Given the description of an element on the screen output the (x, y) to click on. 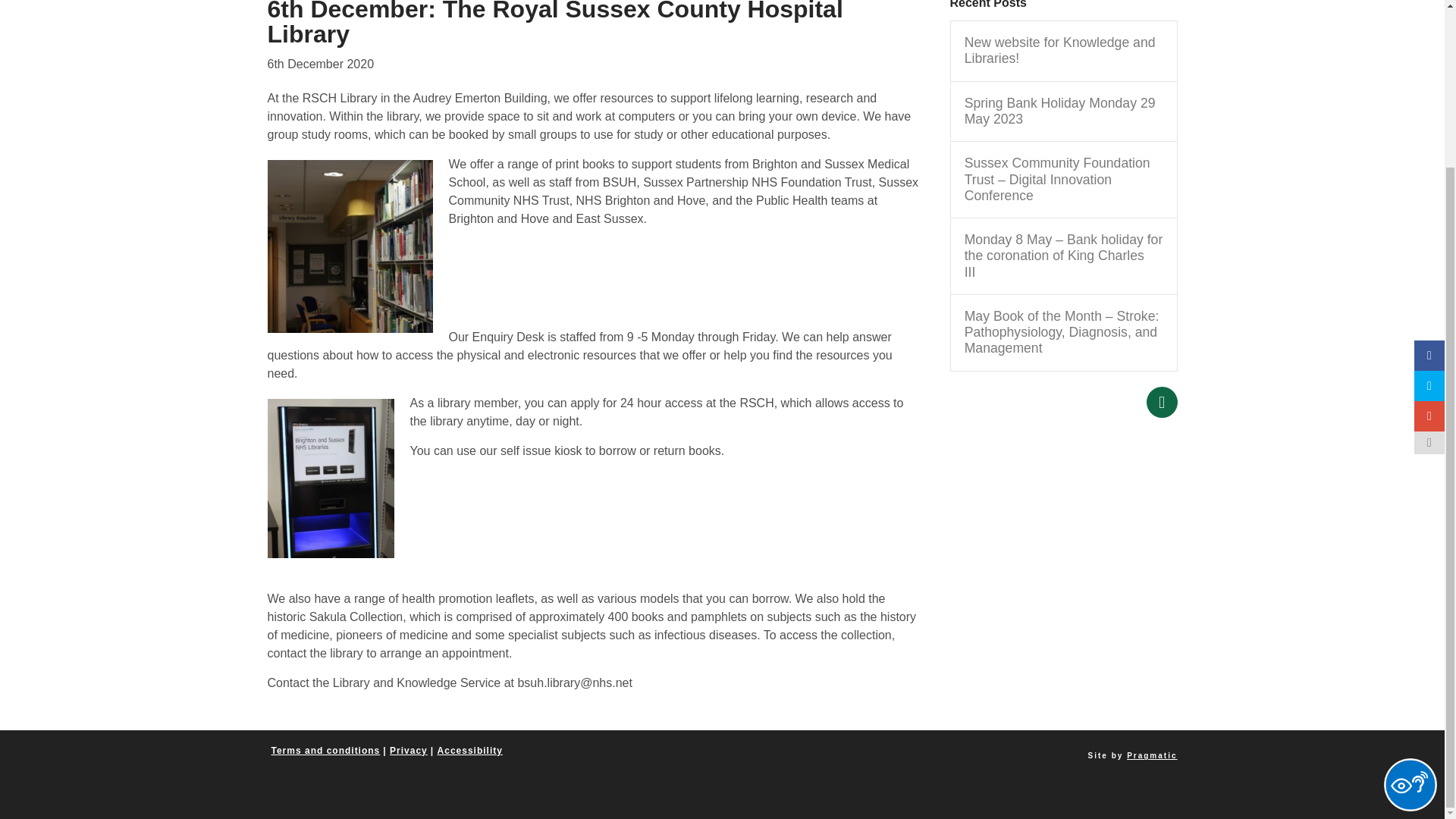
Terms and conditions (325, 751)
Privacy (409, 751)
Accessibility (470, 751)
Spring Bank Holiday Monday 29 May 2023 (1063, 111)
New website for Knowledge and Libraries! (1063, 50)
Pragmatic (1151, 755)
